Given the description of an element on the screen output the (x, y) to click on. 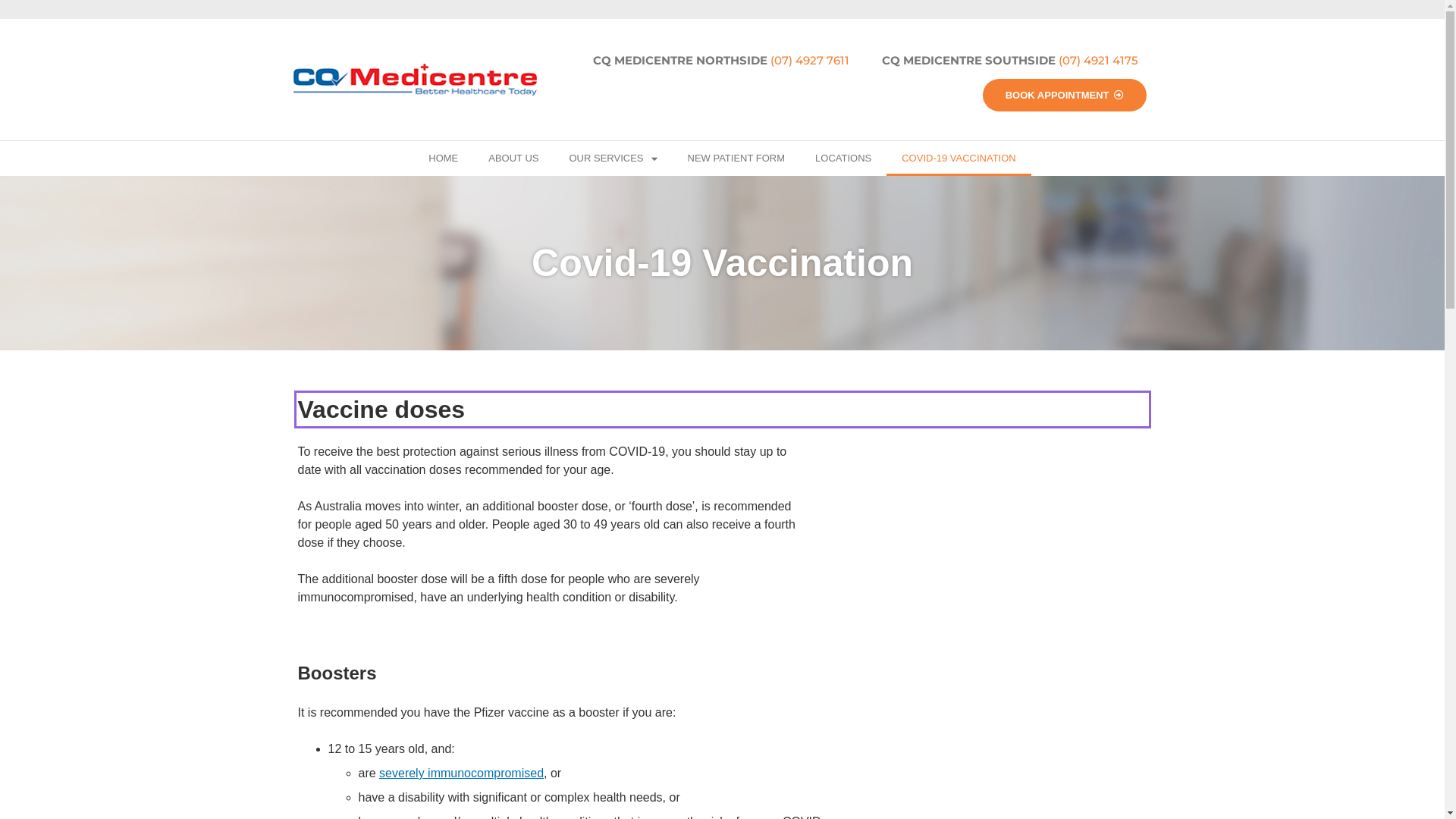
LOCATIONS Element type: text (843, 158)
HOME Element type: text (443, 158)
severely immunocompromised Element type: text (461, 772)
OUR SERVICES Element type: text (612, 158)
NEW PATIENT FORM Element type: text (735, 158)
BOOK APPOINTMENT Element type: text (1064, 94)
COVID-19 VACCINATION Element type: text (958, 158)
ABOUT US Element type: text (513, 158)
